Given the description of an element on the screen output the (x, y) to click on. 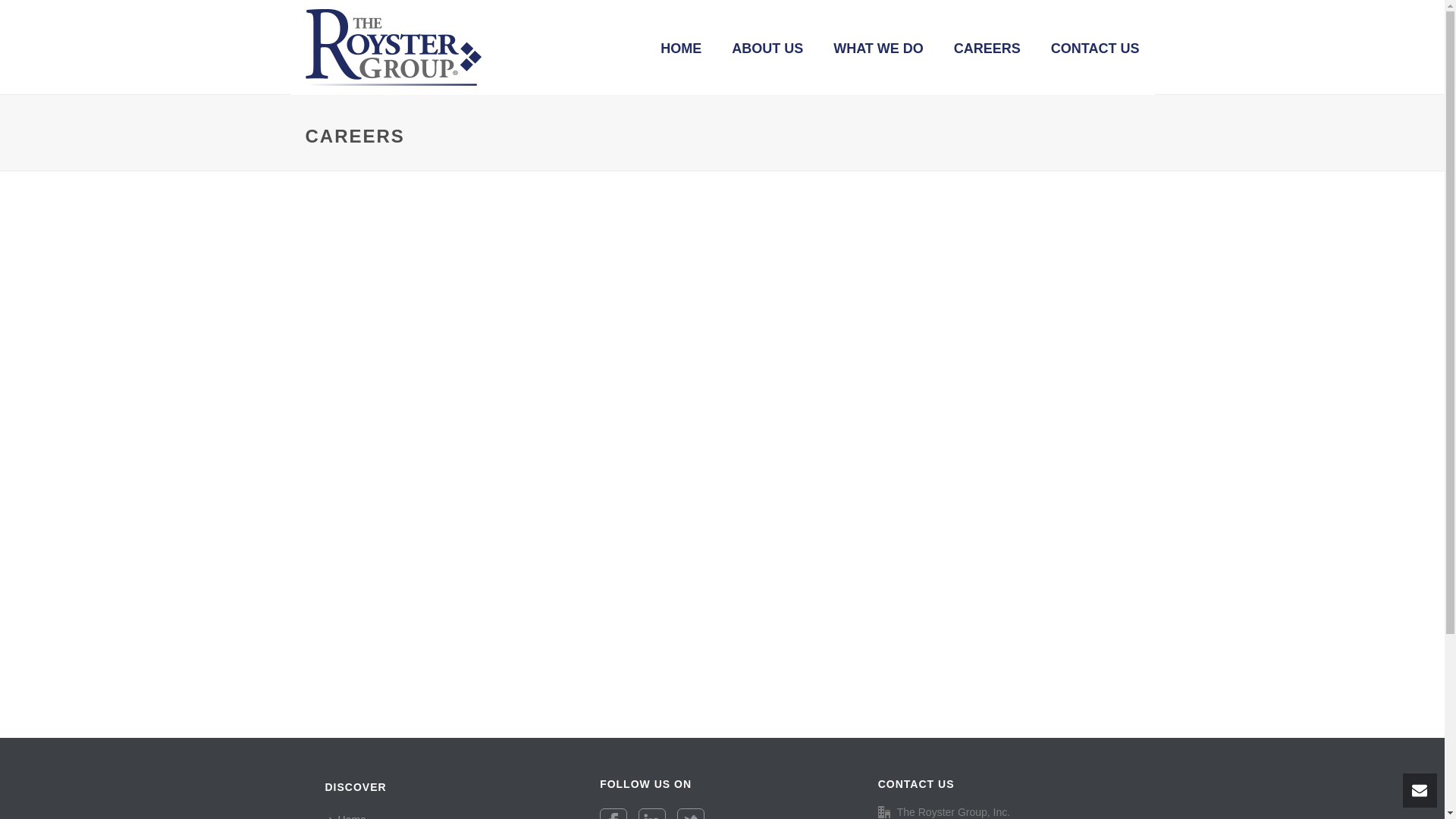
Follow Us on twitter (690, 813)
Follow Us on facebook (613, 813)
WHAT WE DO (878, 47)
WHAT WE DO (878, 47)
CONTACT US (1094, 47)
ABOUT US (767, 47)
Leaders in Human Capital (392, 46)
Follow Us on linkedin (652, 813)
CAREERS (987, 47)
CONTACT US (1094, 47)
